Given the description of an element on the screen output the (x, y) to click on. 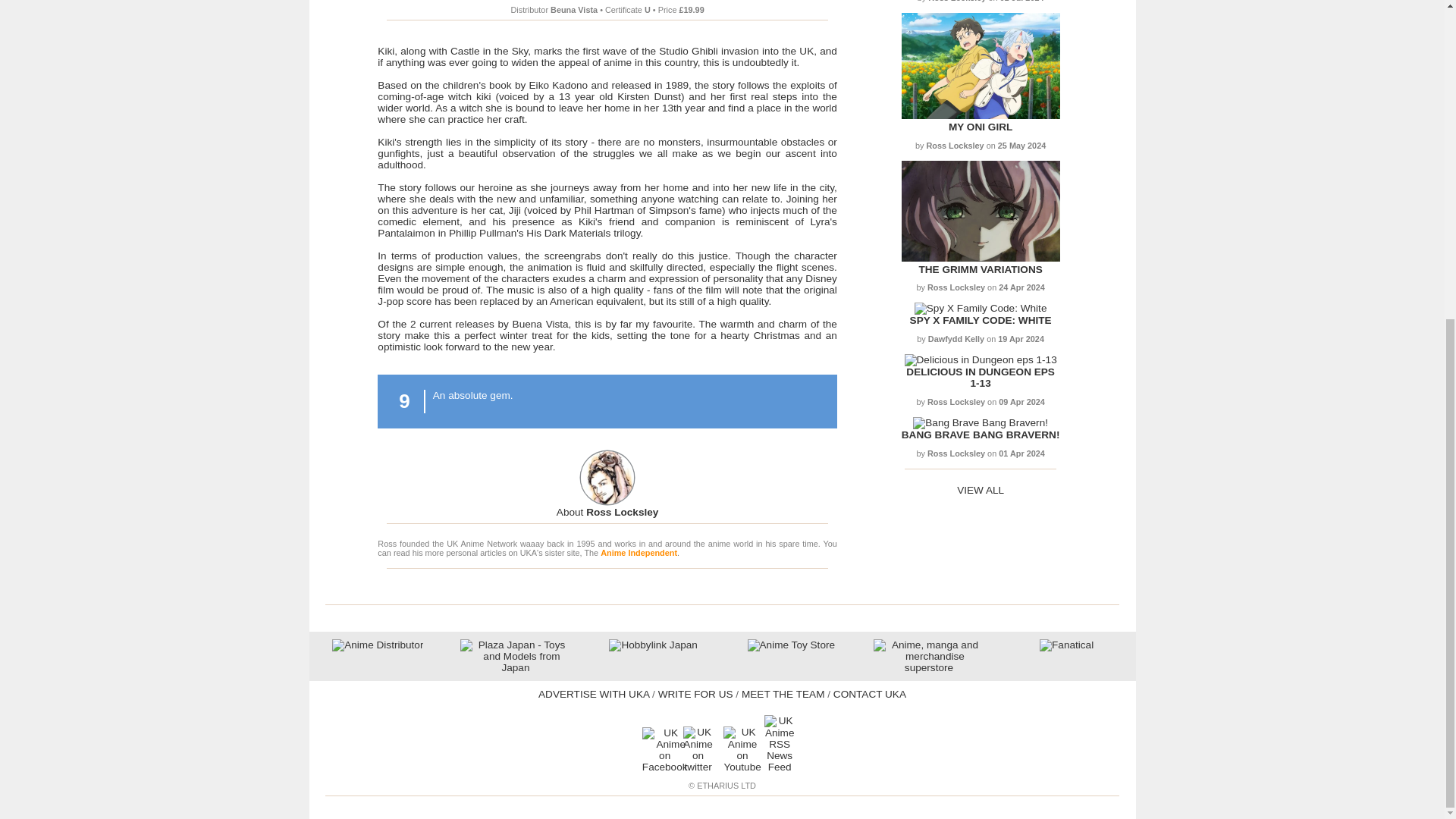
Spy X Family Code: White (980, 319)
Delicious in Dungeon eps 1-13 (979, 377)
MY ONI GIRL (980, 126)
The Anime Independent (638, 552)
About Ross Locksley (607, 511)
BANG BRAVE BANG BRAVERN! (980, 434)
THE GRIMM VARIATIONS (980, 269)
The Grimm Variations (980, 257)
Delicious in Dungeon eps 1-13 (980, 359)
My Oni Girl (980, 115)
VIEW ALL (980, 490)
DELICIOUS IN DUNGEON EPS 1-13 (979, 377)
Spy X Family Code: White (980, 307)
The Grimm Variations (980, 269)
Ross Locksley (607, 511)
